Given the description of an element on the screen output the (x, y) to click on. 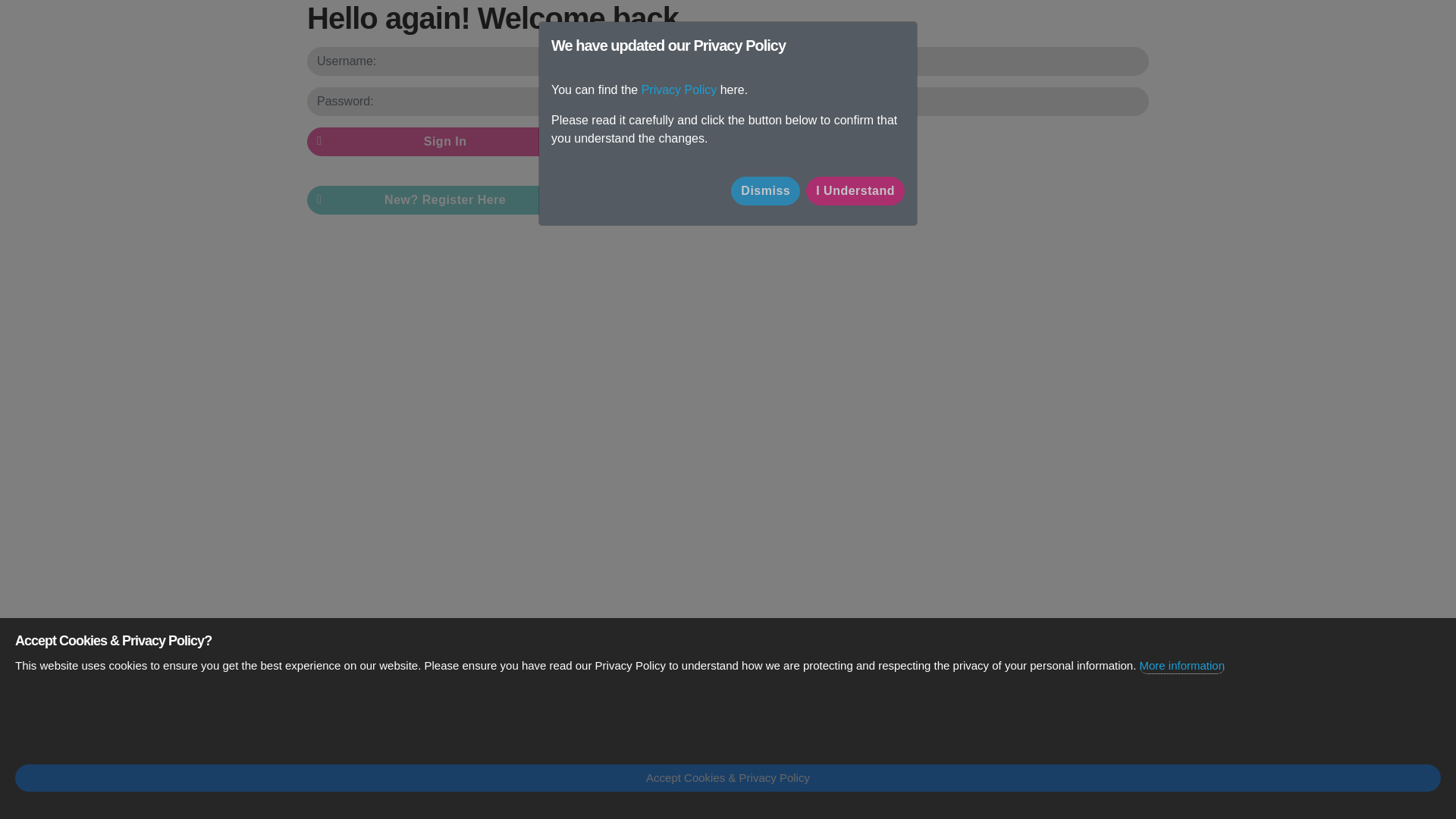
Privacy Policy (679, 89)
Reset Password (660, 211)
Sign In (439, 141)
Dismiss (764, 190)
New? Register Here (439, 199)
I Understand (855, 190)
